Given the description of an element on the screen output the (x, y) to click on. 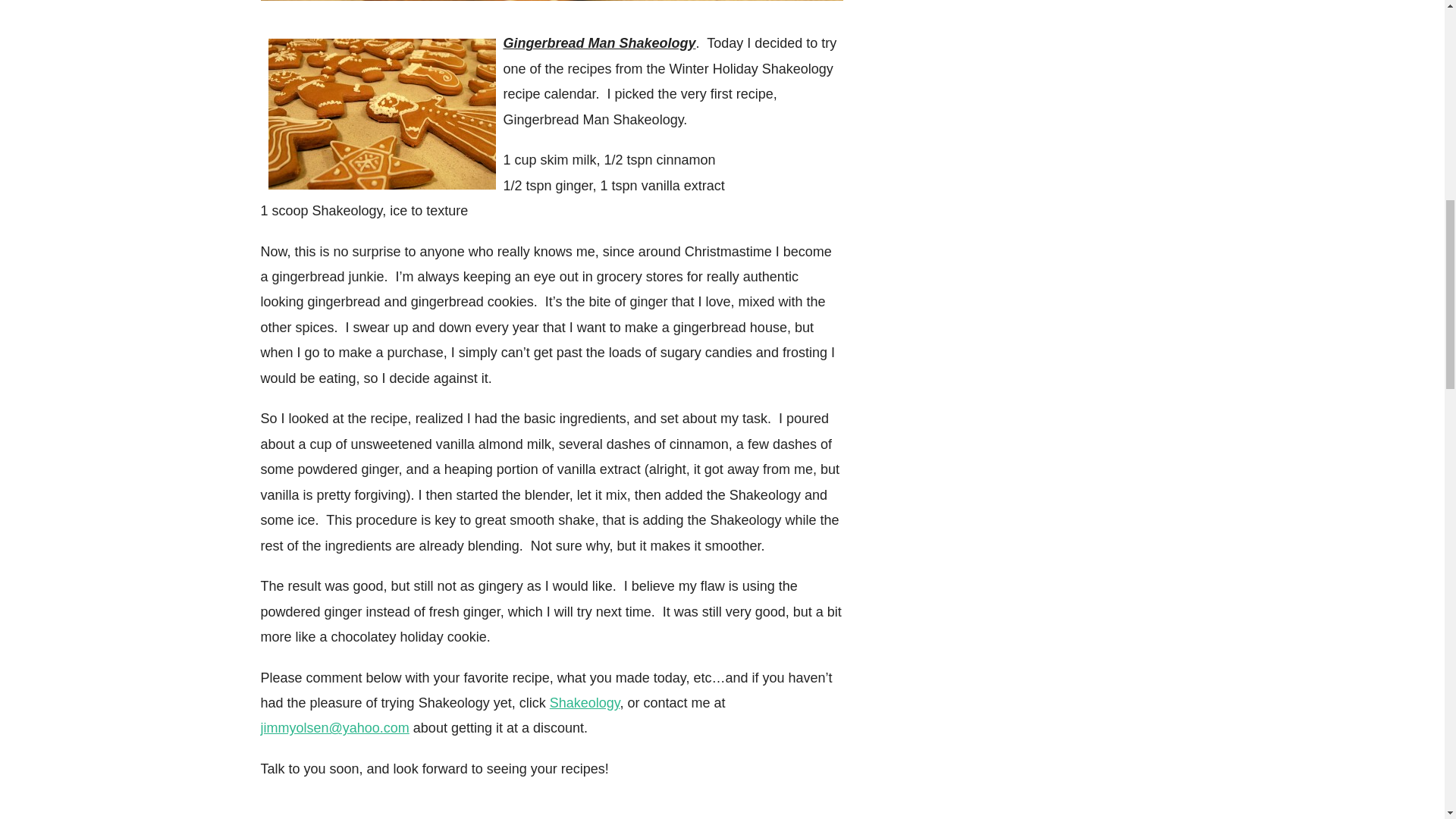
gingerbread (381, 113)
Shakeology (585, 702)
